Given the description of an element on the screen output the (x, y) to click on. 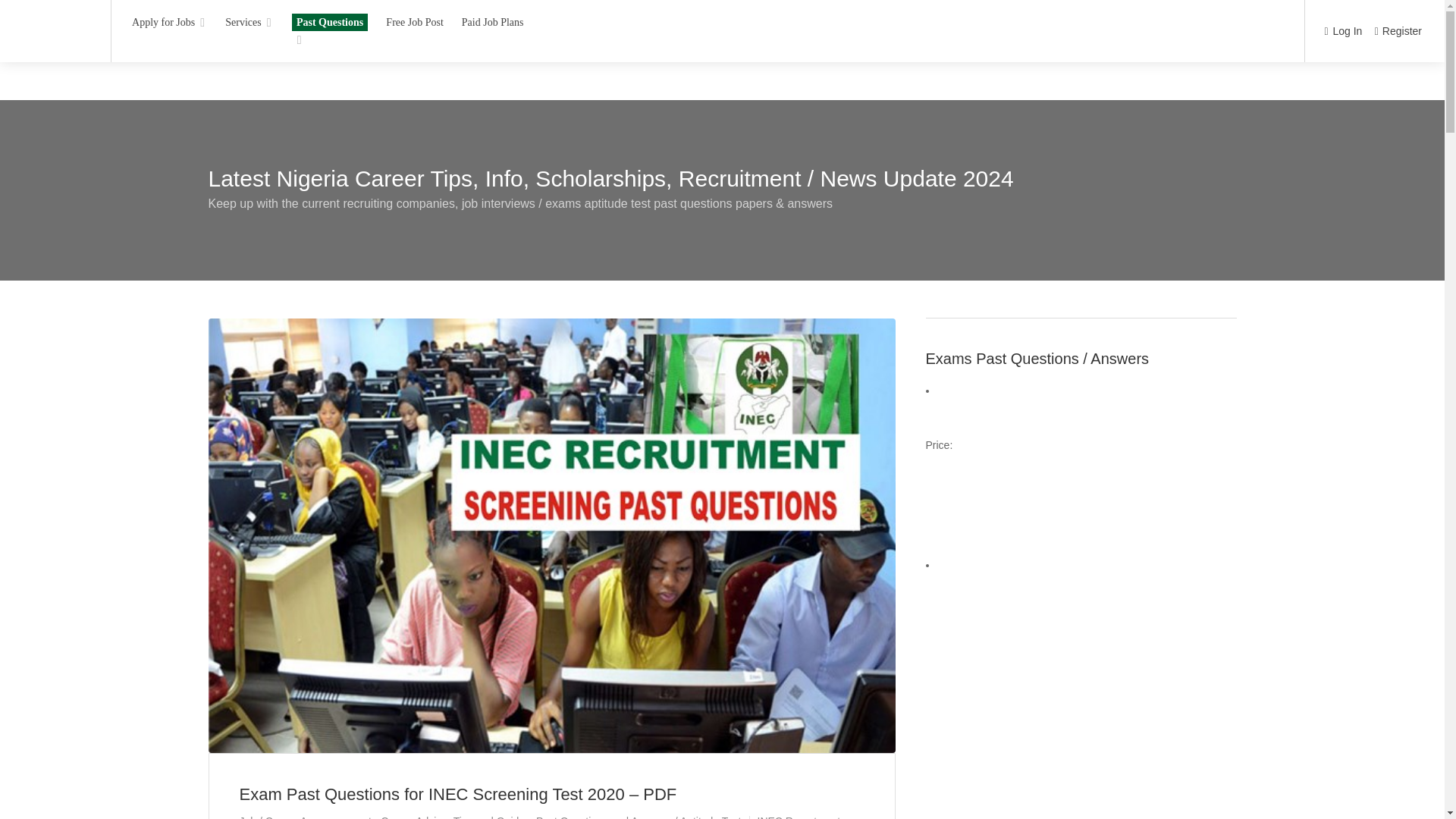
Apply for Jobs (169, 21)
Services (248, 21)
JobsGivers (54, 10)
